Given the description of an element on the screen output the (x, y) to click on. 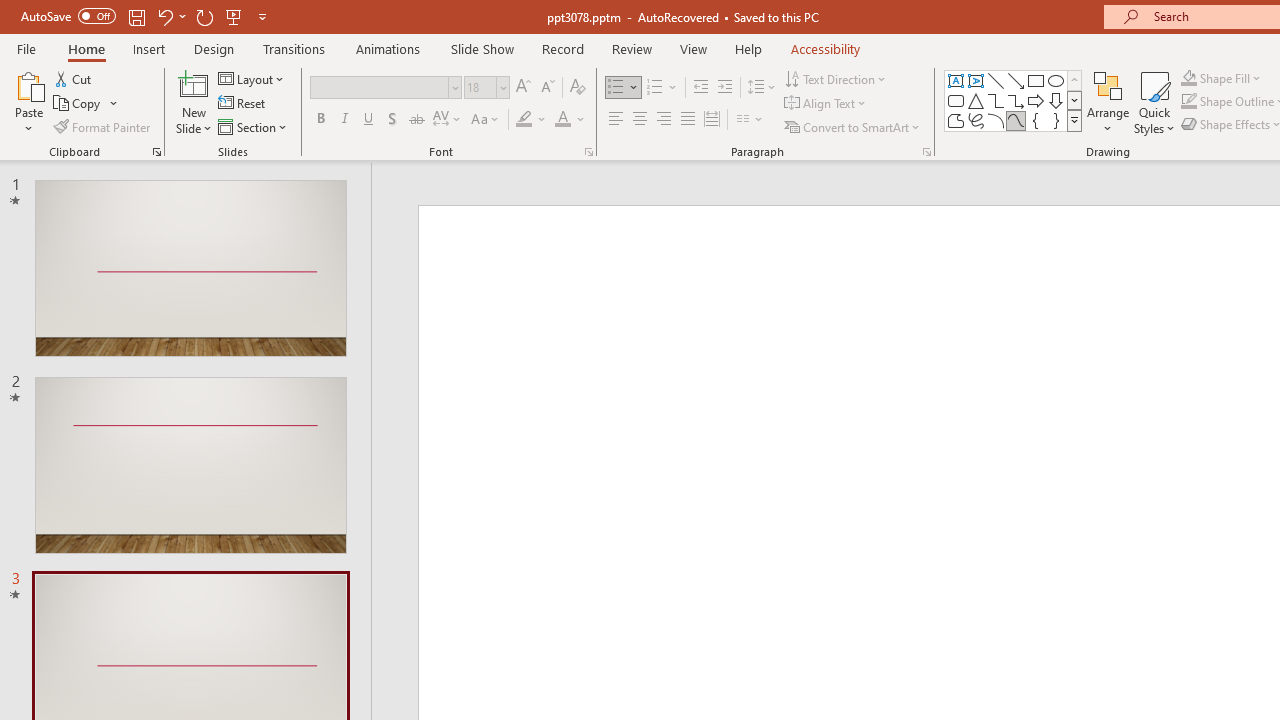
Font Size (480, 87)
Shape Fill (1221, 78)
Paragraph... (926, 151)
Arrange (1108, 102)
Shape Outline Green, Accent 1 (1188, 101)
Transitions (294, 48)
Increase Font Size (522, 87)
Help (748, 48)
Center (639, 119)
Text Box (955, 80)
Bullets (616, 87)
Copy (78, 103)
Justify (687, 119)
Increase Indent (725, 87)
Line Spacing (762, 87)
